Given the description of an element on the screen output the (x, y) to click on. 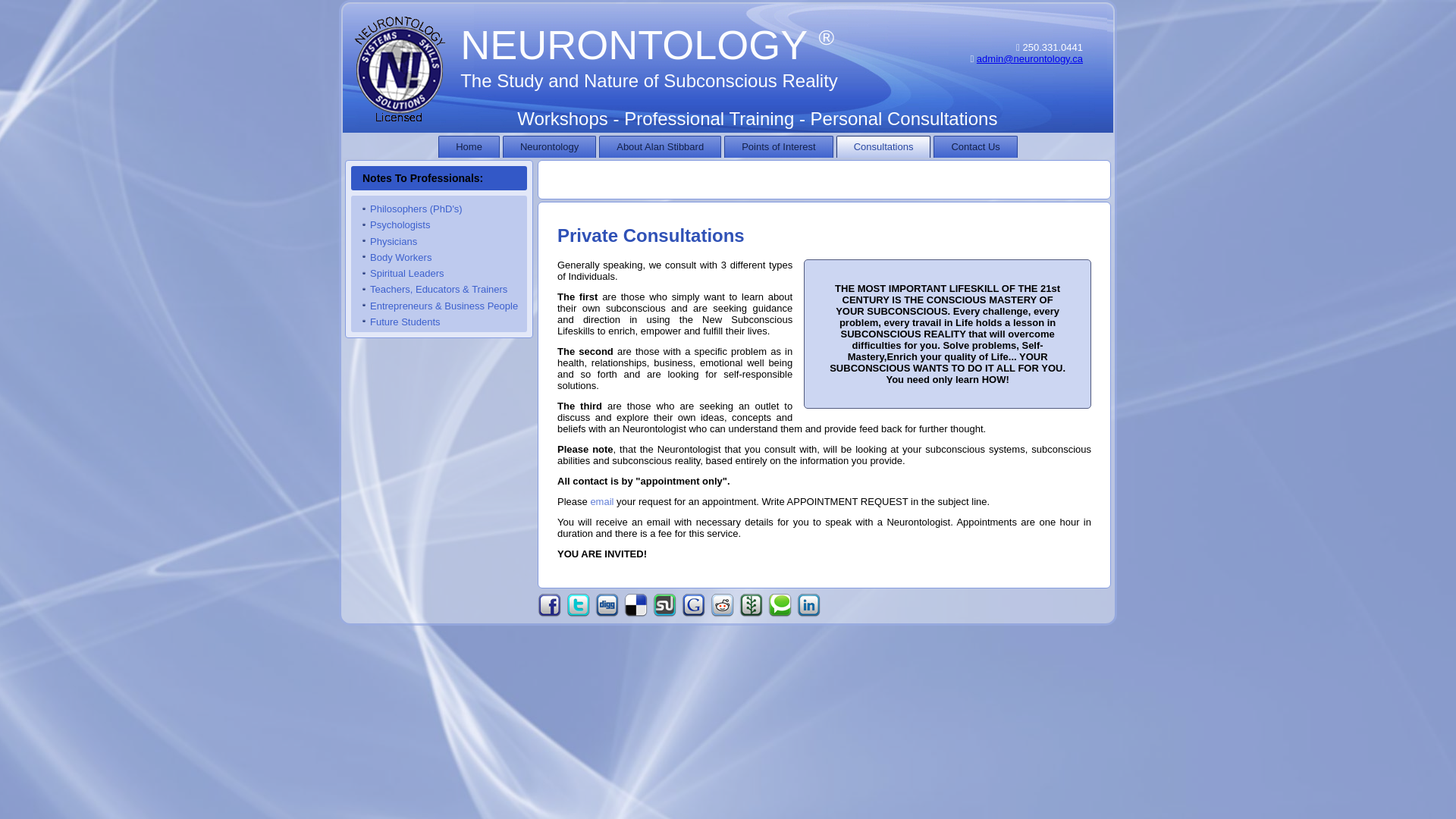
Points of Interest (777, 146)
reddit (722, 604)
Google Bookmarks (693, 604)
Stumbleupon (664, 604)
Facebook (549, 604)
Future Students (405, 321)
Neurontology (548, 146)
Delicious (635, 604)
technorati (780, 604)
email (600, 501)
Private Consultations (650, 235)
Psychologists (399, 224)
Consultations (883, 146)
newsvine (750, 604)
Body Workers (399, 256)
